Given the description of an element on the screen output the (x, y) to click on. 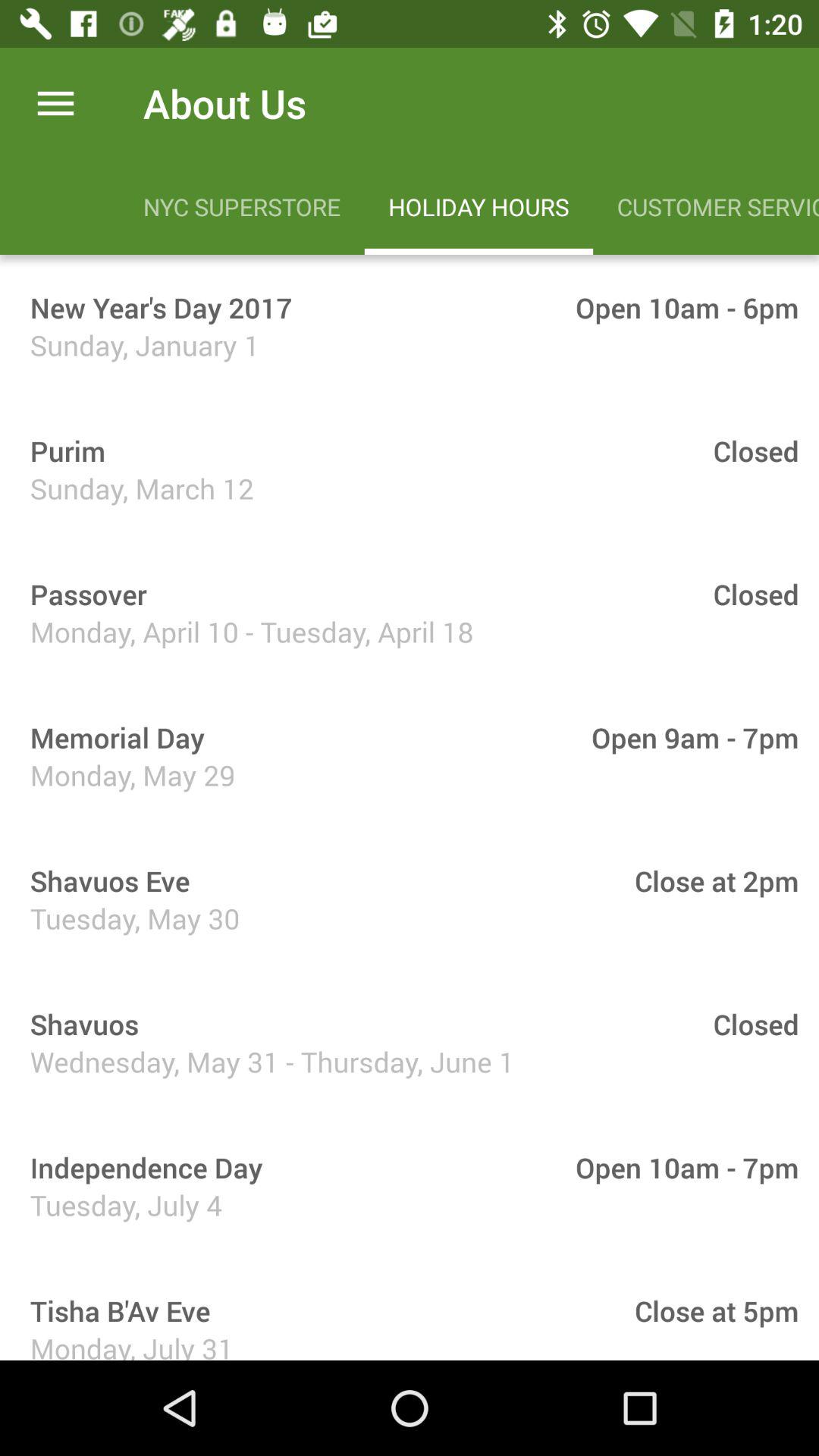
flip to independence day item (140, 1167)
